Given the description of an element on the screen output the (x, y) to click on. 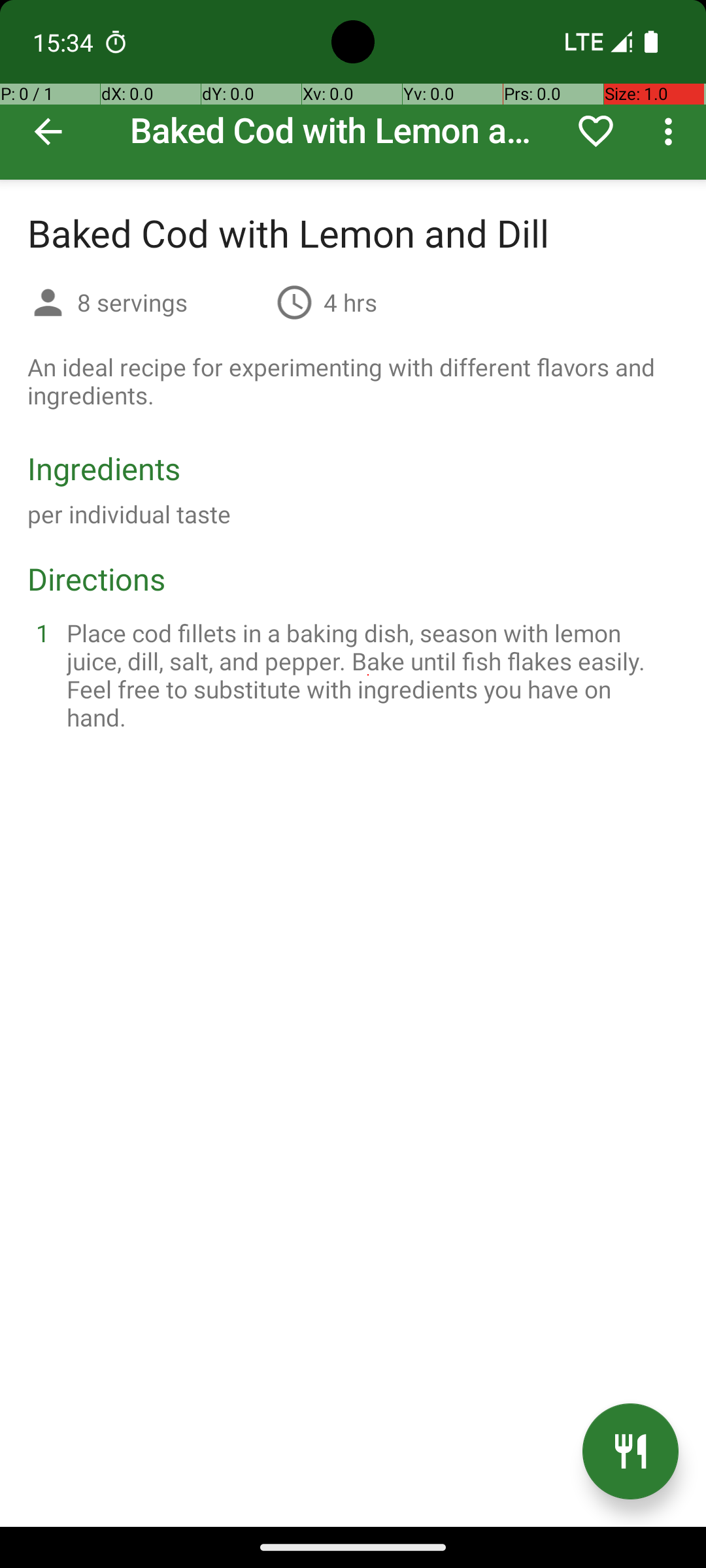
Place cod fillets in a baking dish, season with lemon juice, dill, salt, and pepper. Bake until fish flakes easily. Feel free to substitute with ingredients you have on hand. Element type: android.widget.TextView (368, 674)
